Given the description of an element on the screen output the (x, y) to click on. 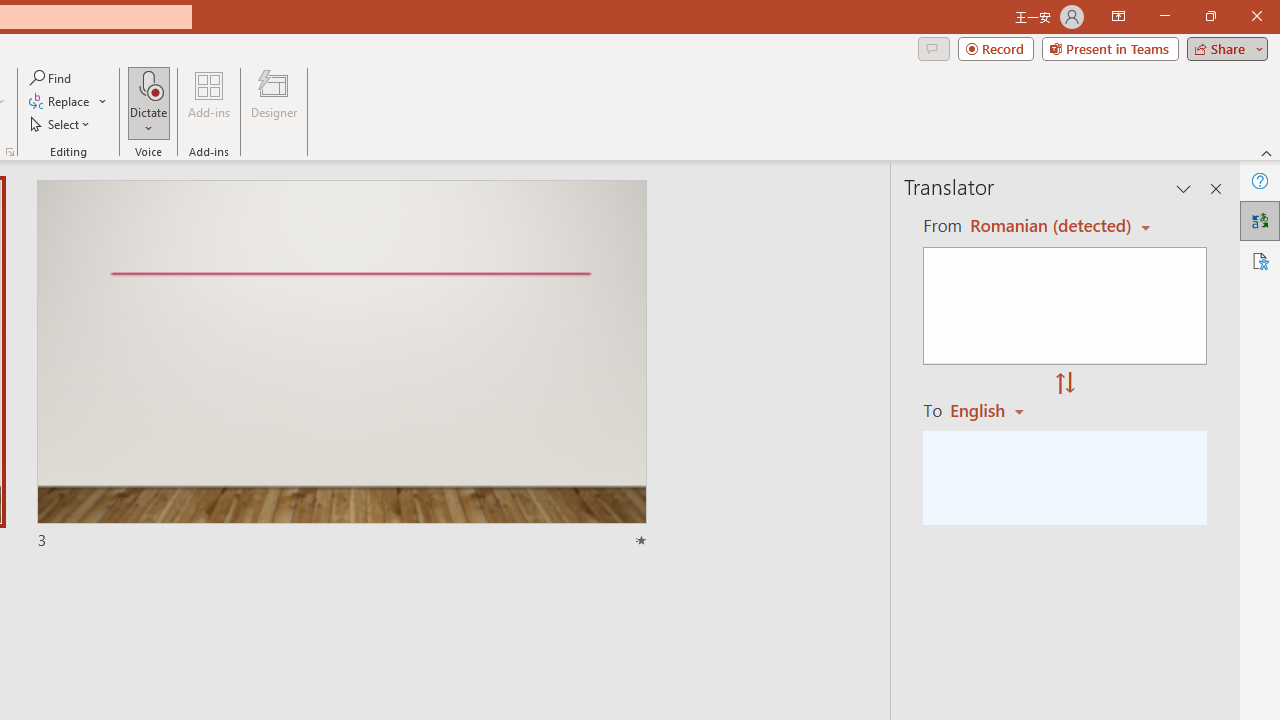
Swap "from" and "to" languages. (1065, 383)
